Given the description of an element on the screen output the (x, y) to click on. 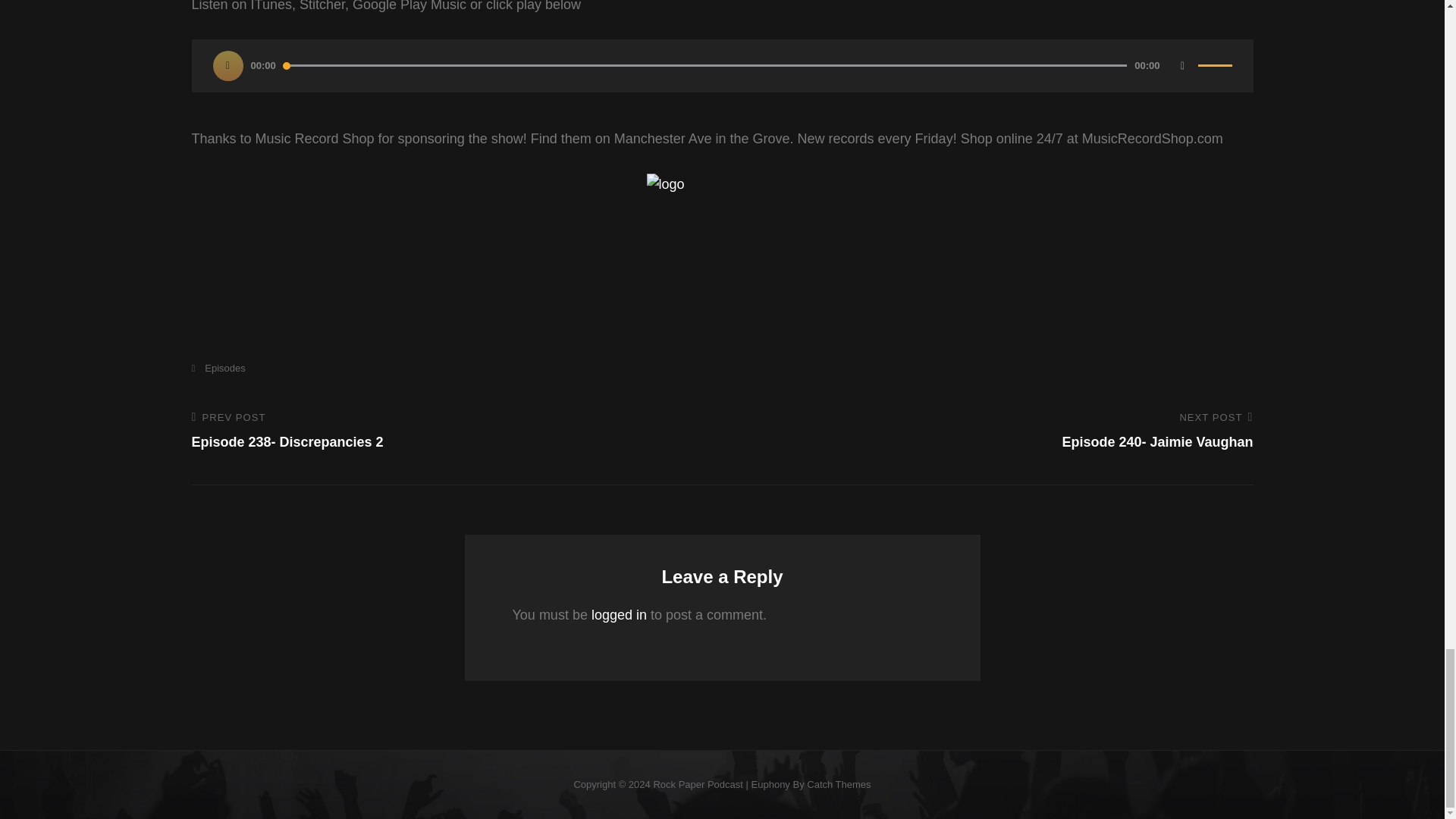
logged in (618, 614)
Rock Paper Podcast (697, 784)
Mute (445, 431)
Play (1182, 65)
Catch Themes (227, 65)
Episodes (838, 784)
